Given the description of an element on the screen output the (x, y) to click on. 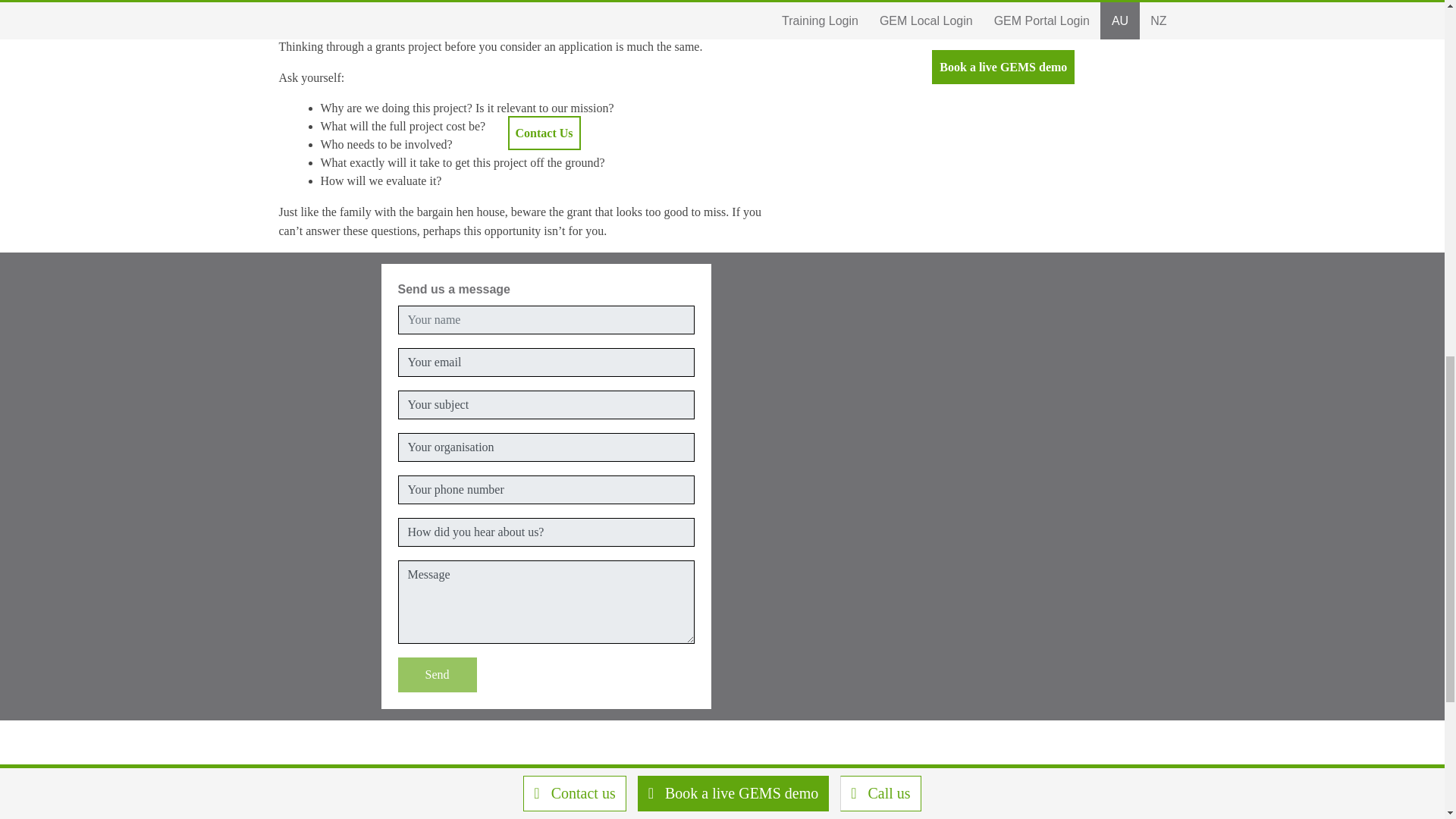
Your email (545, 362)
How did you hear about us? (545, 532)
Your subject (545, 404)
Your organisation (545, 447)
Your phone number (545, 489)
Send (436, 674)
Send (436, 674)
